Given the description of an element on the screen output the (x, y) to click on. 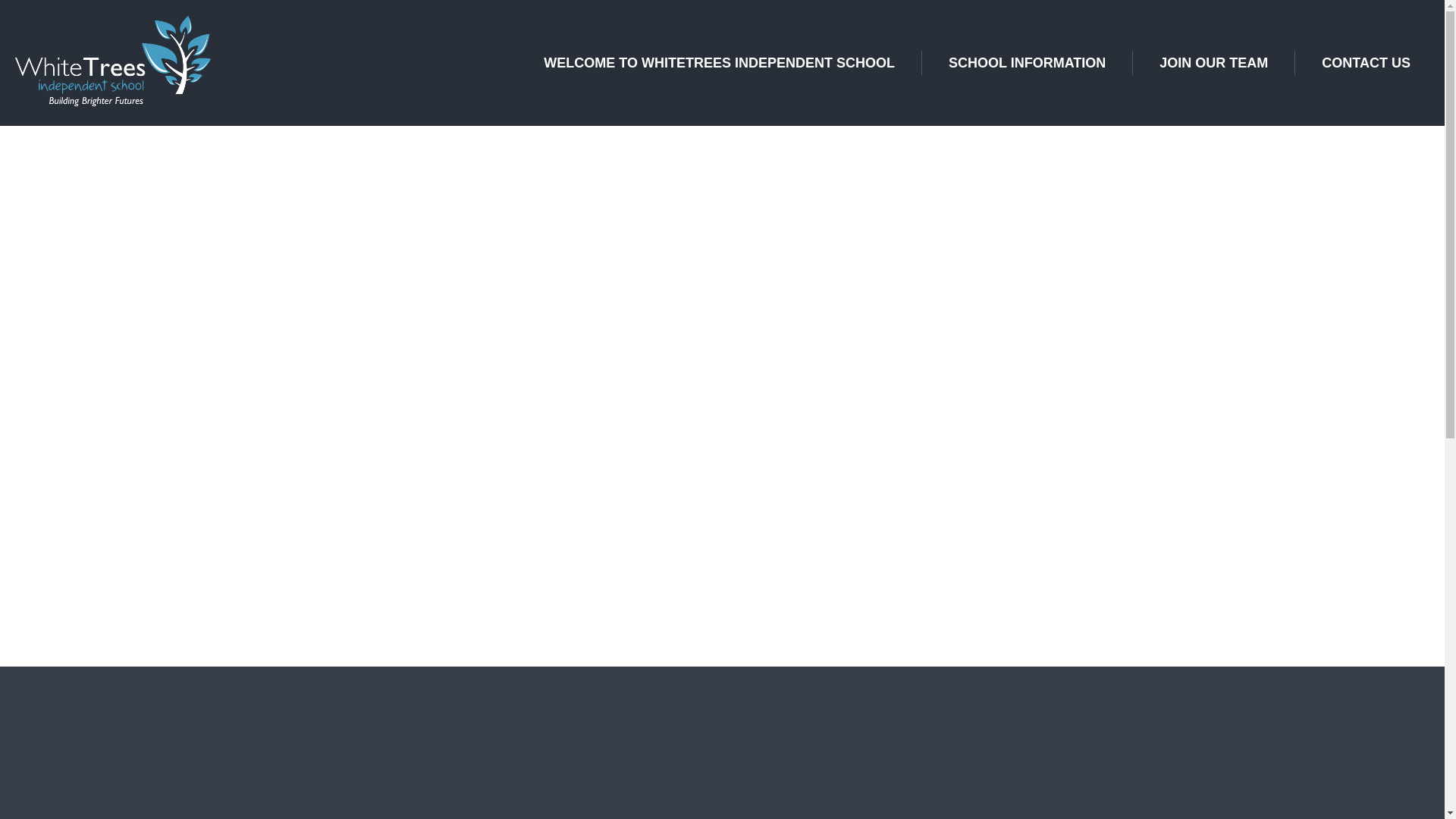
WELCOME TO WHITETREES INDEPENDENT SCHOOL (718, 62)
SCHOOL INFORMATION (1026, 62)
JOIN OUR TEAM (1213, 62)
CONTACT US (1366, 62)
